Given the description of an element on the screen output the (x, y) to click on. 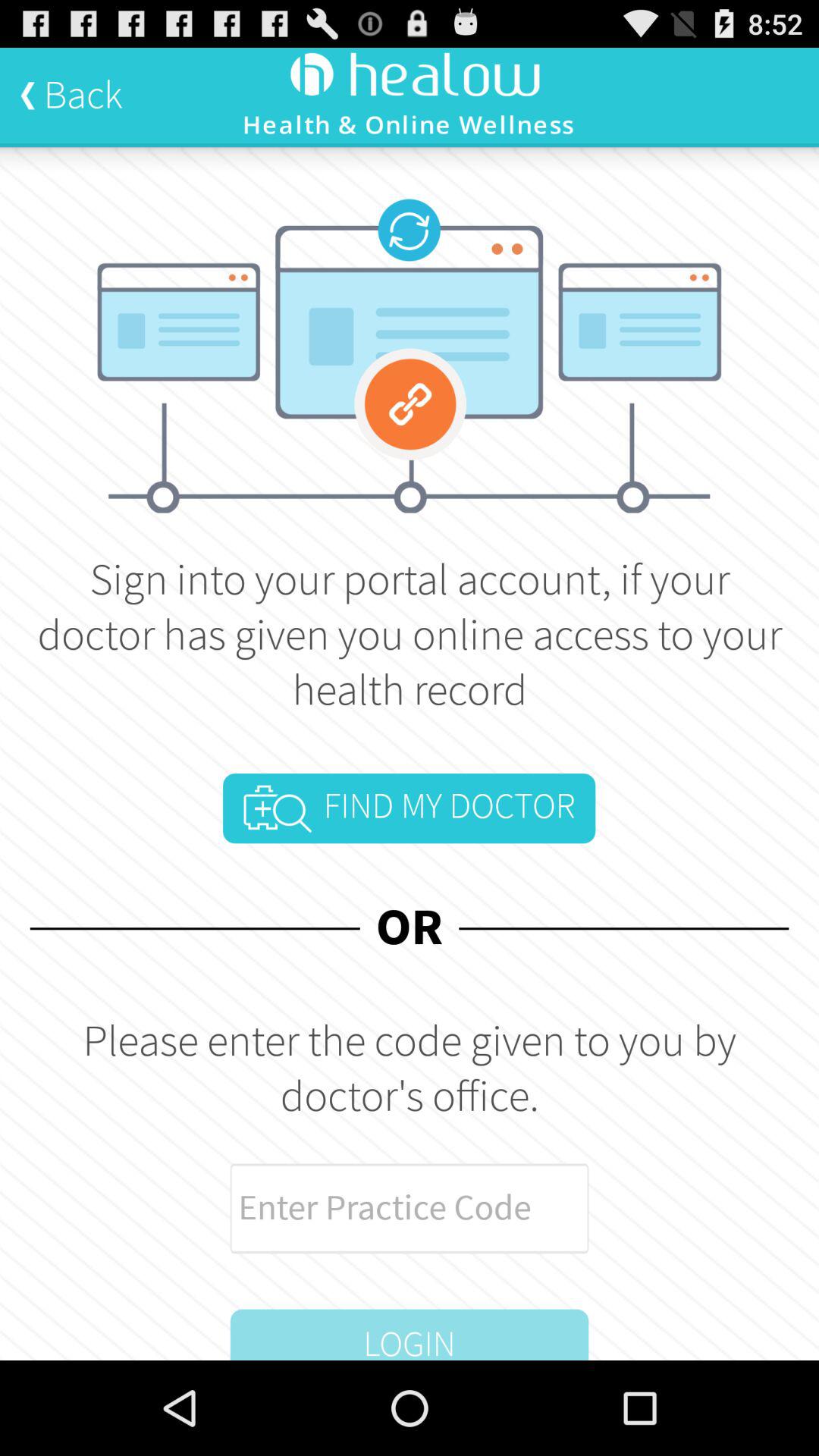
launch icon above the login item (409, 1208)
